Given the description of an element on the screen output the (x, y) to click on. 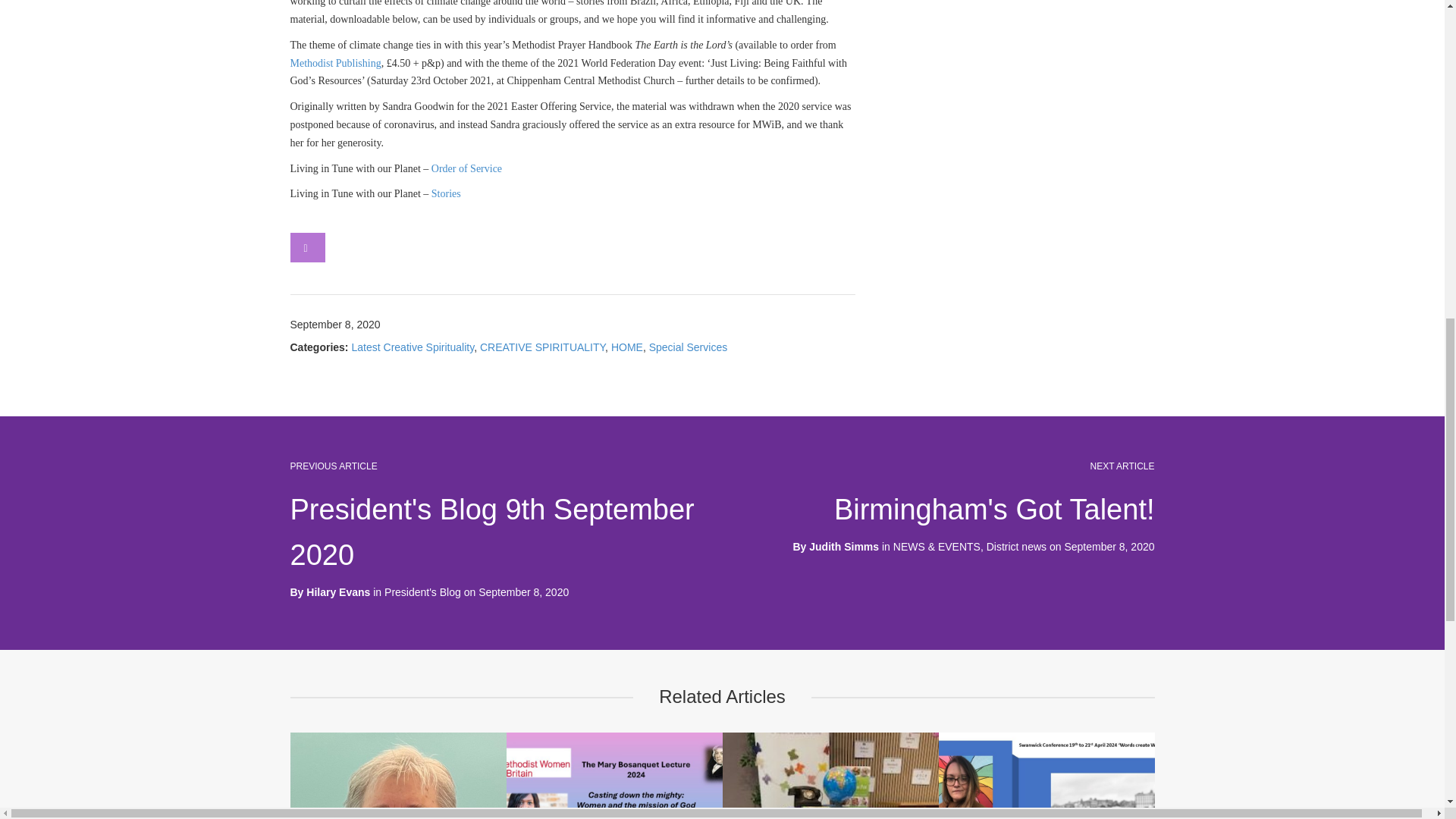
Latest Creative Spirituality (413, 346)
Methodist Publishing (334, 62)
Special Services (688, 346)
Birmingham's Got Talent! (994, 509)
District news (1016, 546)
CREATIVE SPIRITUALITY (542, 346)
President's Blog (422, 592)
Order of Service (466, 168)
Stories (445, 193)
President's Blog 9th September 2020 (491, 531)
